Given the description of an element on the screen output the (x, y) to click on. 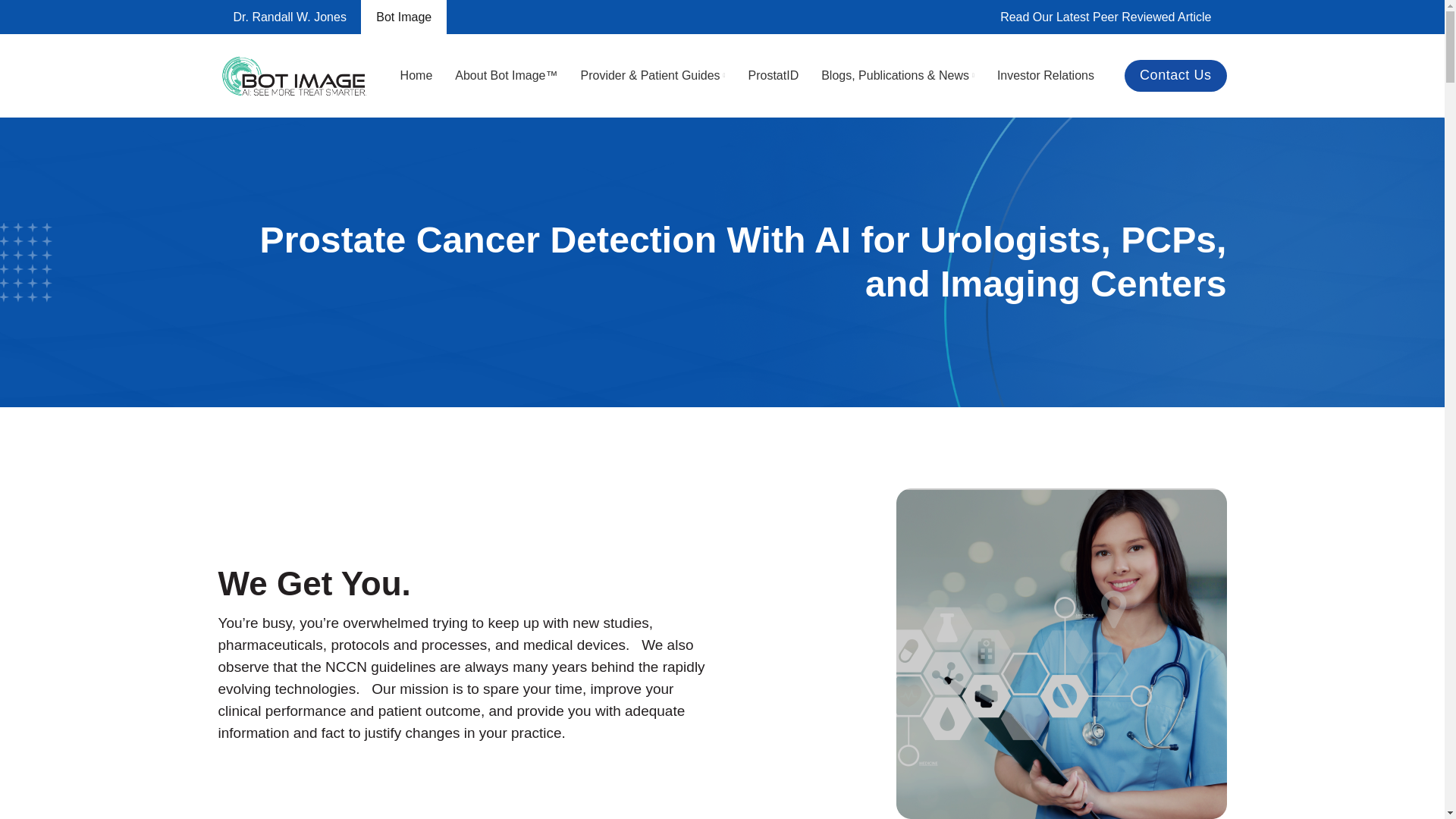
Read Our Latest Peer Reviewed Article (1105, 17)
Dr. Randall W. Jones (289, 17)
Investor Relations (1045, 75)
Home (416, 75)
ProstatID (772, 75)
Contact Us (1174, 75)
Bot Image (403, 17)
